Given the description of an element on the screen output the (x, y) to click on. 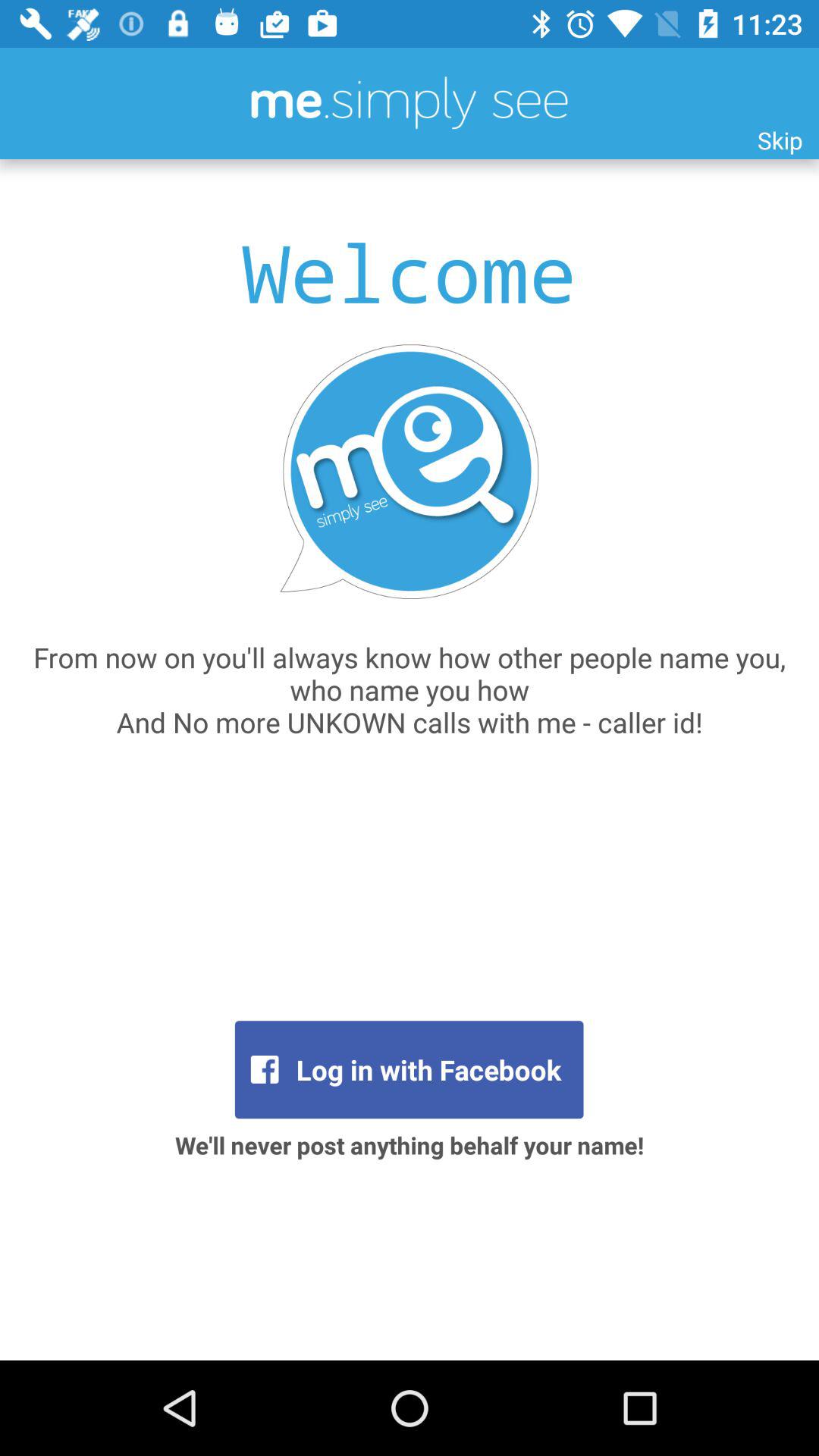
jump until the skip (780, 139)
